Given the description of an element on the screen output the (x, y) to click on. 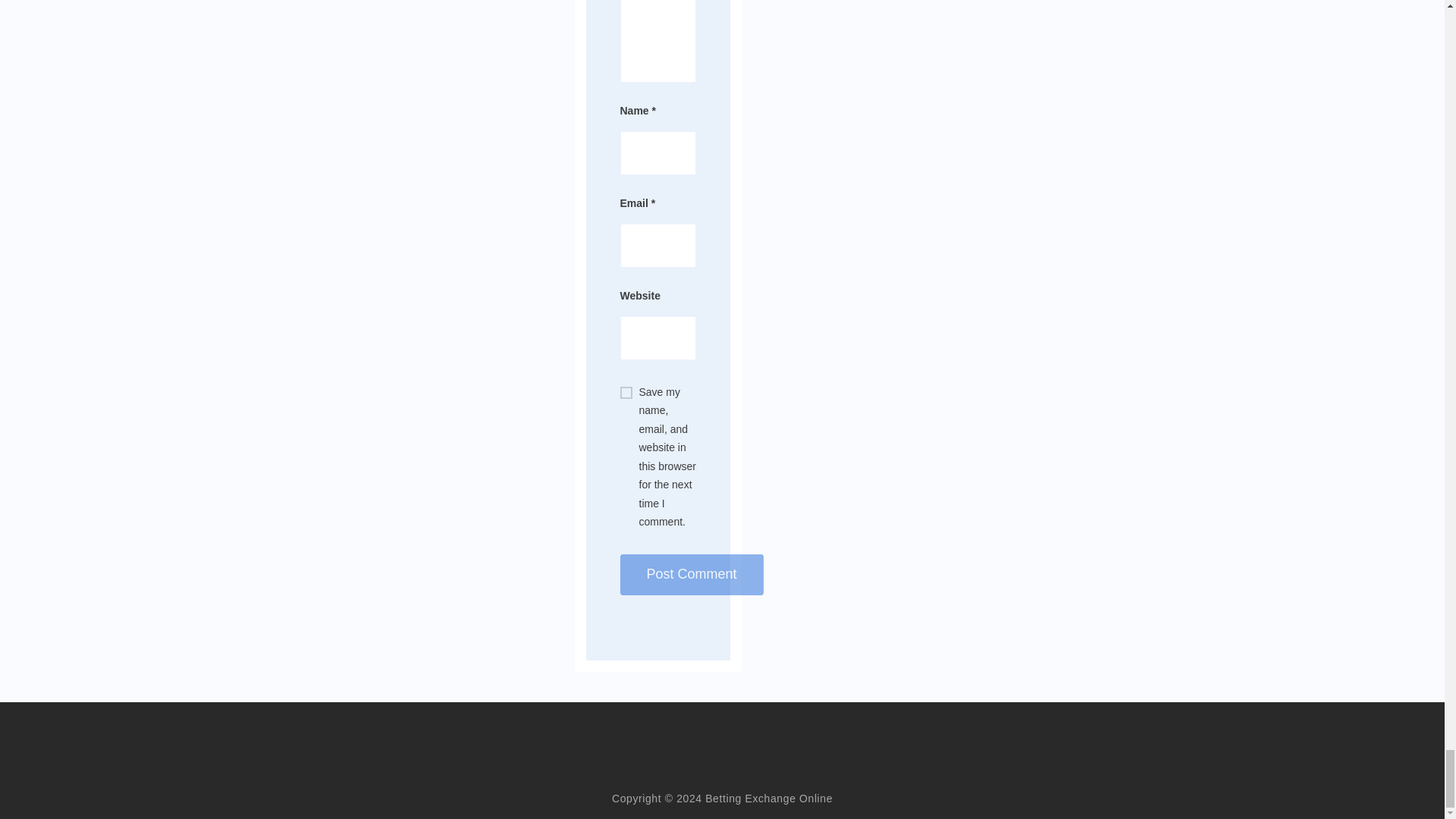
Post Comment (691, 574)
